Given the description of an element on the screen output the (x, y) to click on. 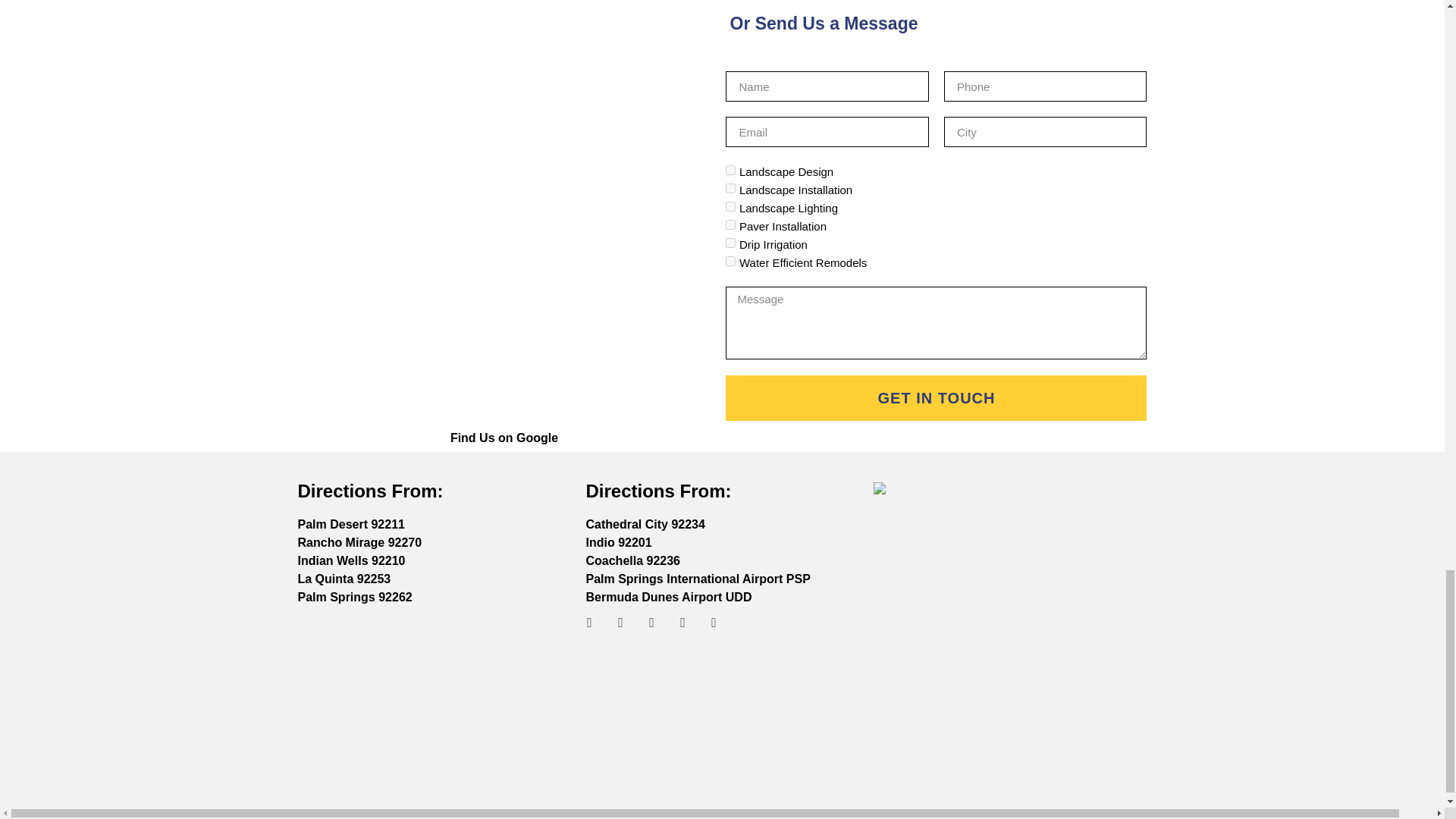
paver-installation (730, 225)
landscape-installation (730, 188)
drip-irrigation (730, 243)
water-efficient-remodels (730, 261)
landscape-lighting (730, 206)
landscape-design (730, 170)
